Given the description of an element on the screen output the (x, y) to click on. 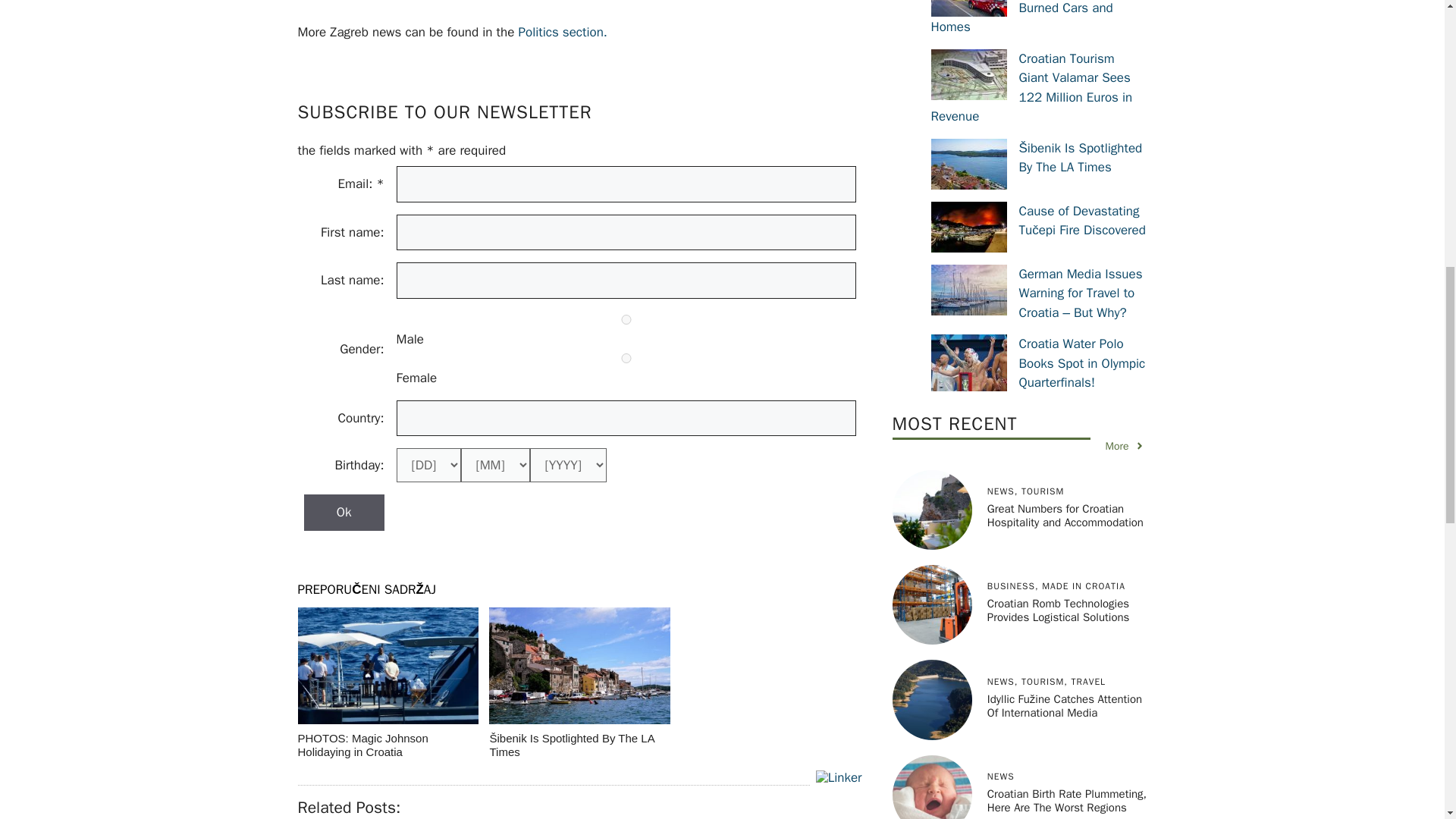
M (626, 319)
F (626, 357)
PHOTOS: Magic Johnson Holidaying in Croatia (387, 683)
Ok (343, 512)
